Given the description of an element on the screen output the (x, y) to click on. 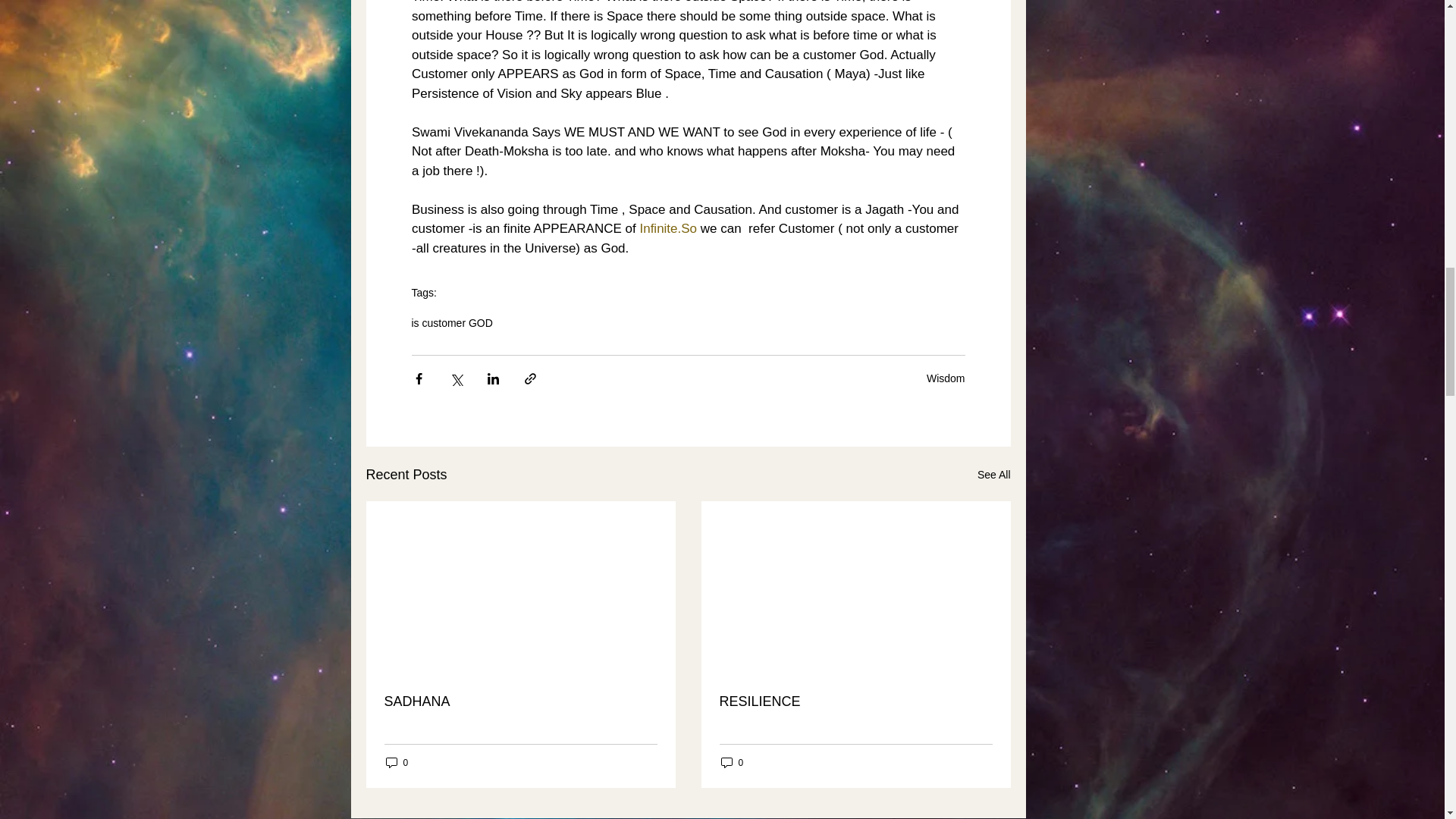
is customer GOD (451, 322)
SADHANA (520, 700)
0 (396, 762)
Wisdom (945, 377)
Infinite.So (668, 228)
See All (993, 475)
